Given the description of an element on the screen output the (x, y) to click on. 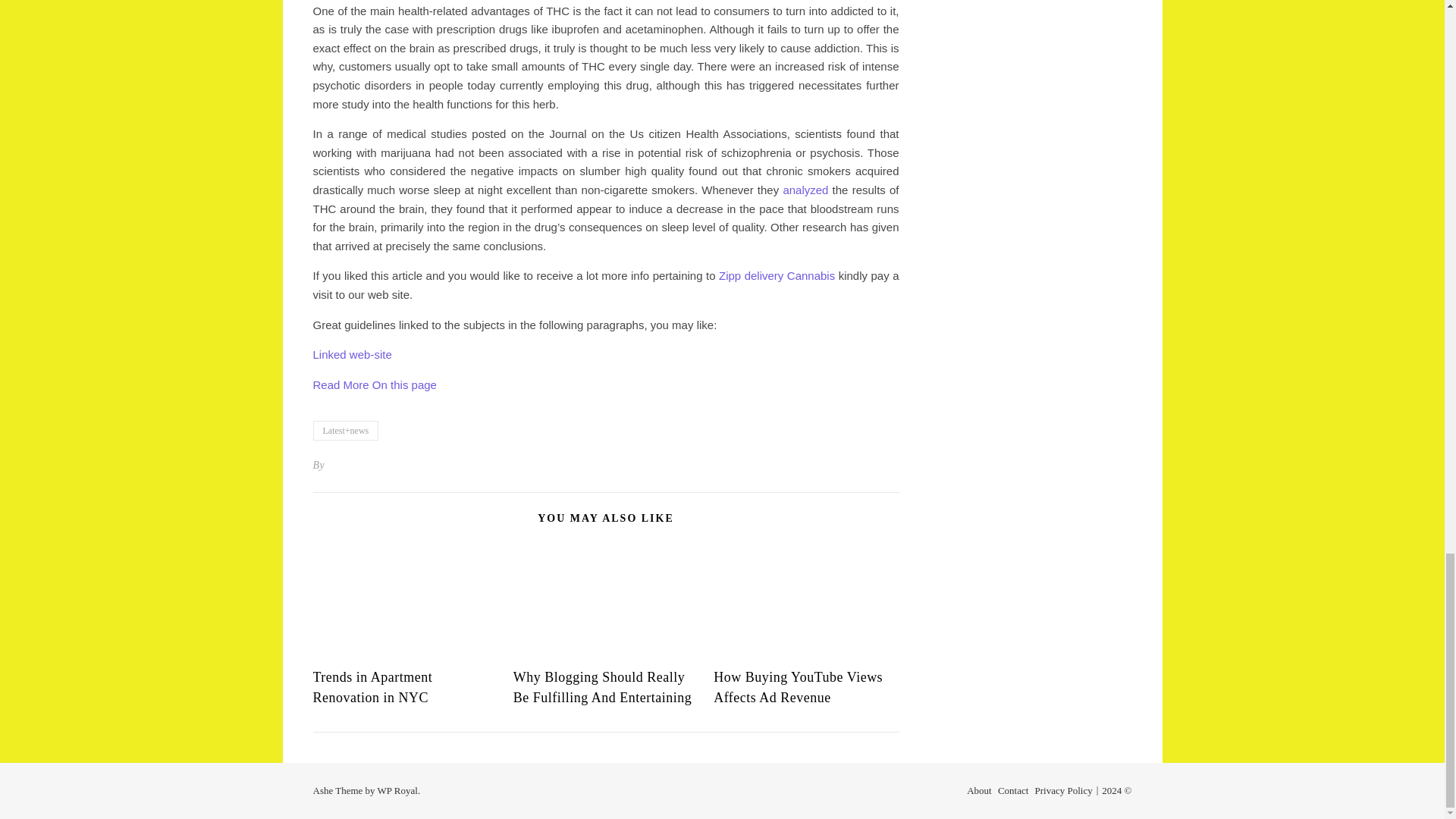
Zipp delivery Cannabis (776, 275)
How Buying YouTube Views Affects Ad Revenue (797, 687)
Why Blogging Should Really Be Fulfilling And Entertaining (602, 687)
Read More On this page (374, 384)
analyzed (805, 189)
Linked web-site (352, 354)
Trends in Apartment Renovation in NYC (372, 687)
Contact (1012, 790)
About (978, 790)
